Given the description of an element on the screen output the (x, y) to click on. 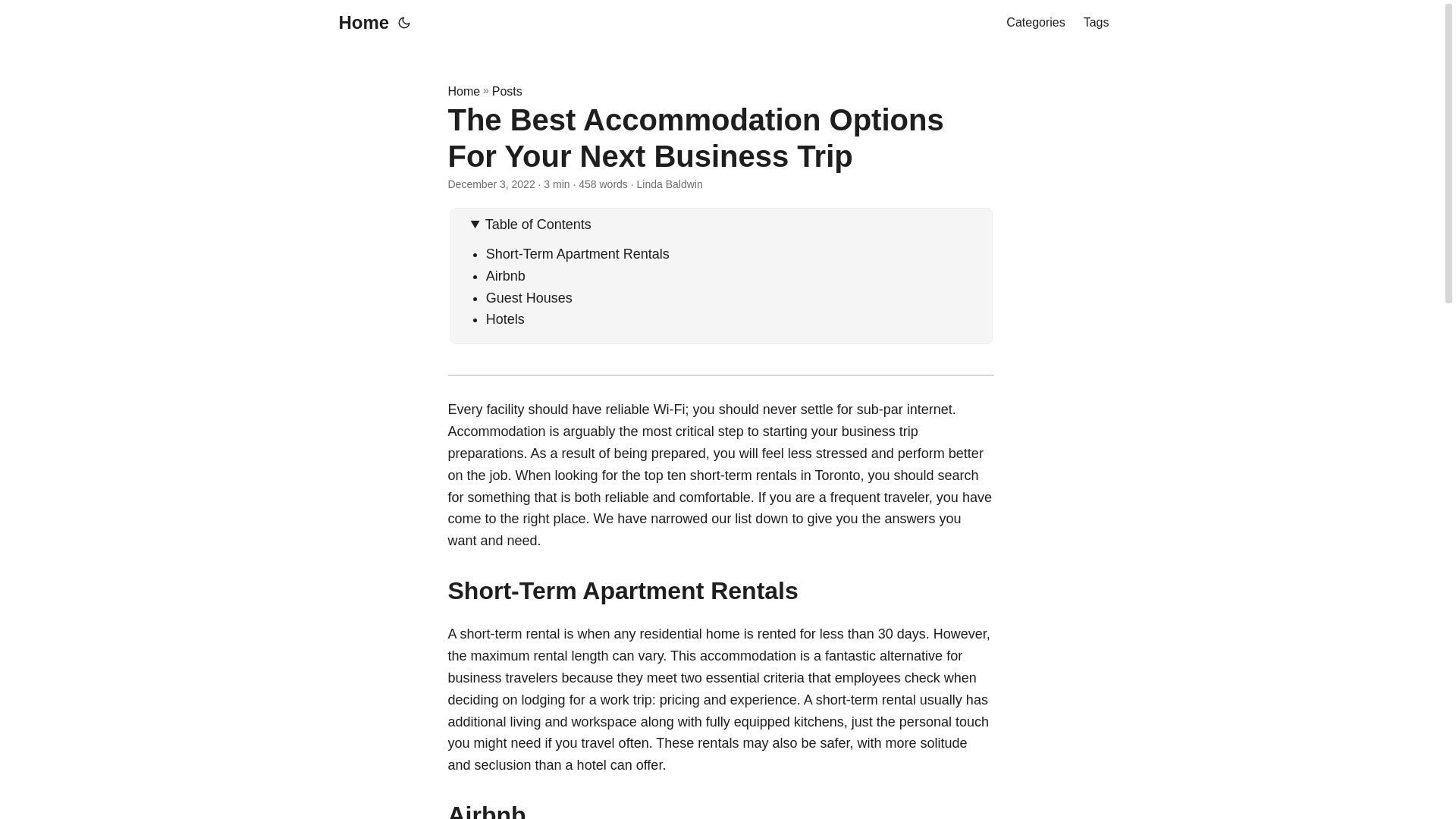
Home (463, 91)
Hotels (505, 319)
Posts (507, 91)
Airbnb (505, 275)
Guest Houses (529, 297)
Home (359, 22)
Categories (1035, 22)
Categories (1035, 22)
Short-Term Apartment Rentals (577, 253)
